Given the description of an element on the screen output the (x, y) to click on. 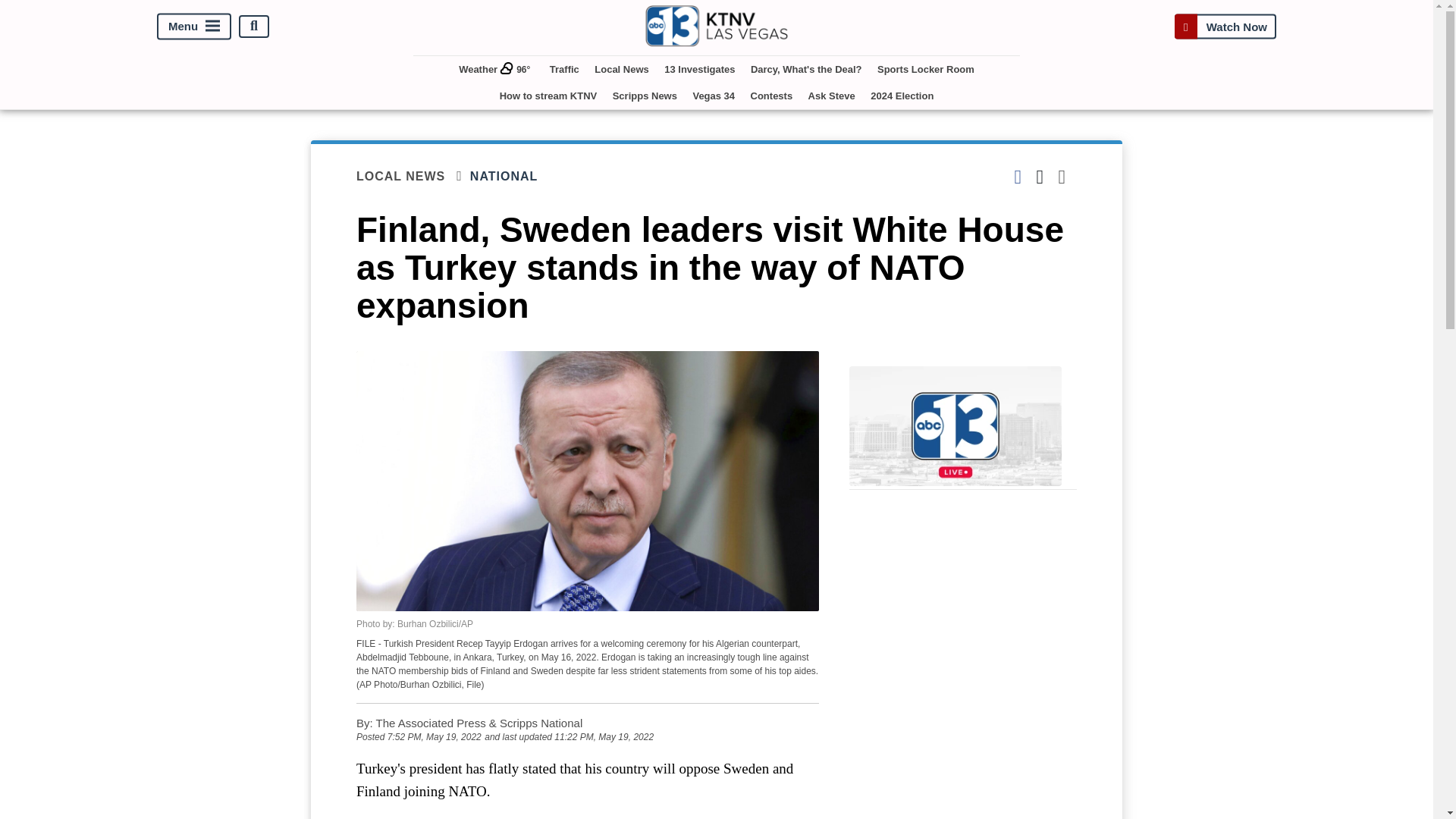
Watch Now (1224, 25)
Menu (194, 26)
